Given the description of an element on the screen output the (x, y) to click on. 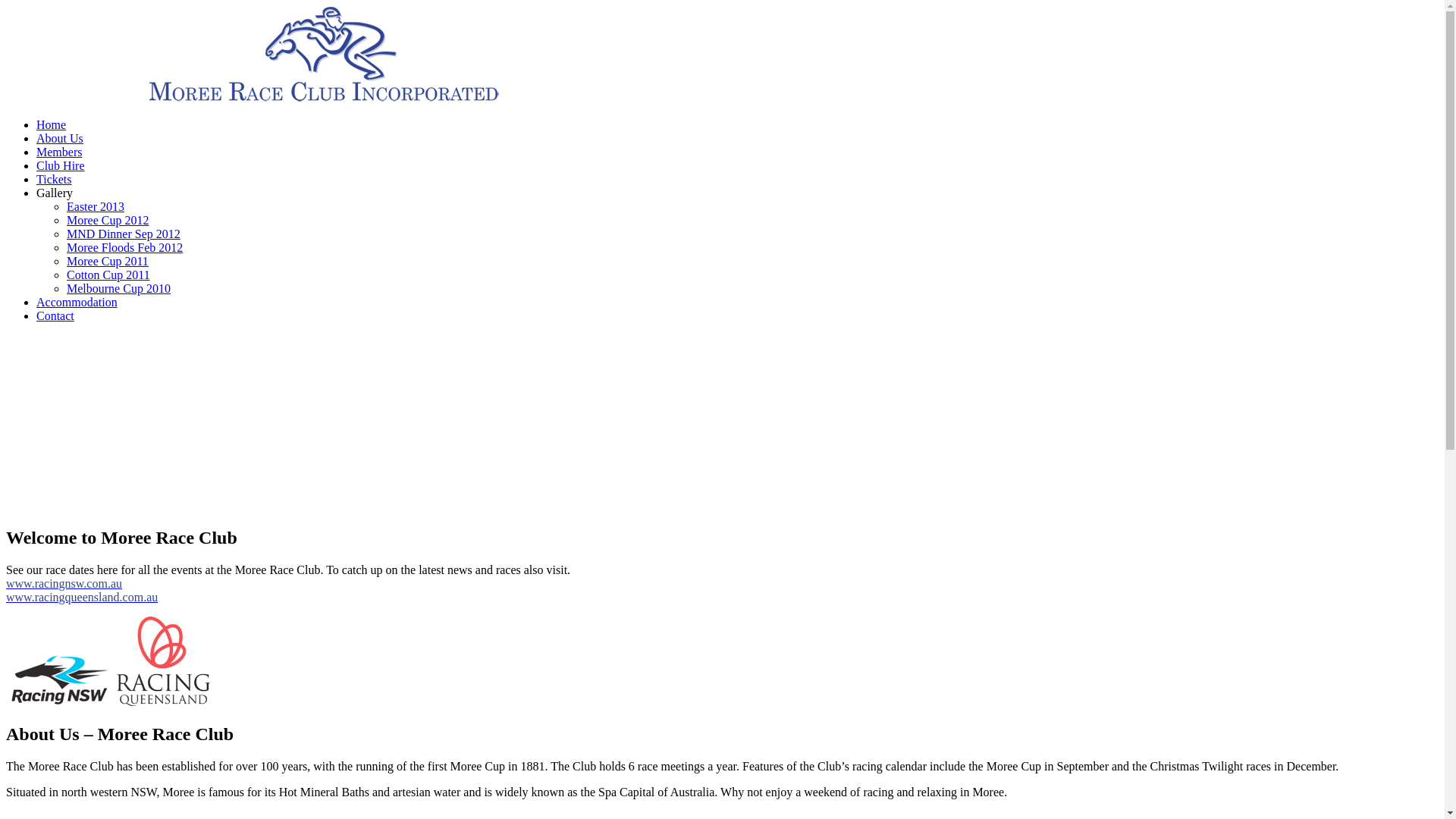
About Us Element type: text (59, 137)
Melbourne Cup 2010 Element type: text (118, 288)
Home Element type: text (50, 124)
www.racingqueensland.com.au Element type: text (81, 596)
racing nsw Element type: hover (59, 677)
MND Dinner Sep 2012 Element type: text (123, 233)
Contact Element type: text (55, 315)
Moree Floods Feb 2012 Element type: text (124, 247)
Gallery Element type: text (54, 192)
Cotton Cup 2011 Element type: text (108, 274)
Moree Race Club Element type: hover (324, 98)
Moree Cup 2011 Element type: text (107, 260)
Club Hire Element type: text (60, 165)
Racing Queensland Logo_Colour_Small Element type: hover (163, 661)
Accommodation Element type: text (76, 301)
www.racingnsw.com.au Element type: text (64, 583)
Tickets Element type: text (54, 178)
Moree Cup 2012 Element type: text (107, 219)
Members Element type: text (58, 151)
Easter 2013 Element type: text (95, 206)
